Given the description of an element on the screen output the (x, y) to click on. 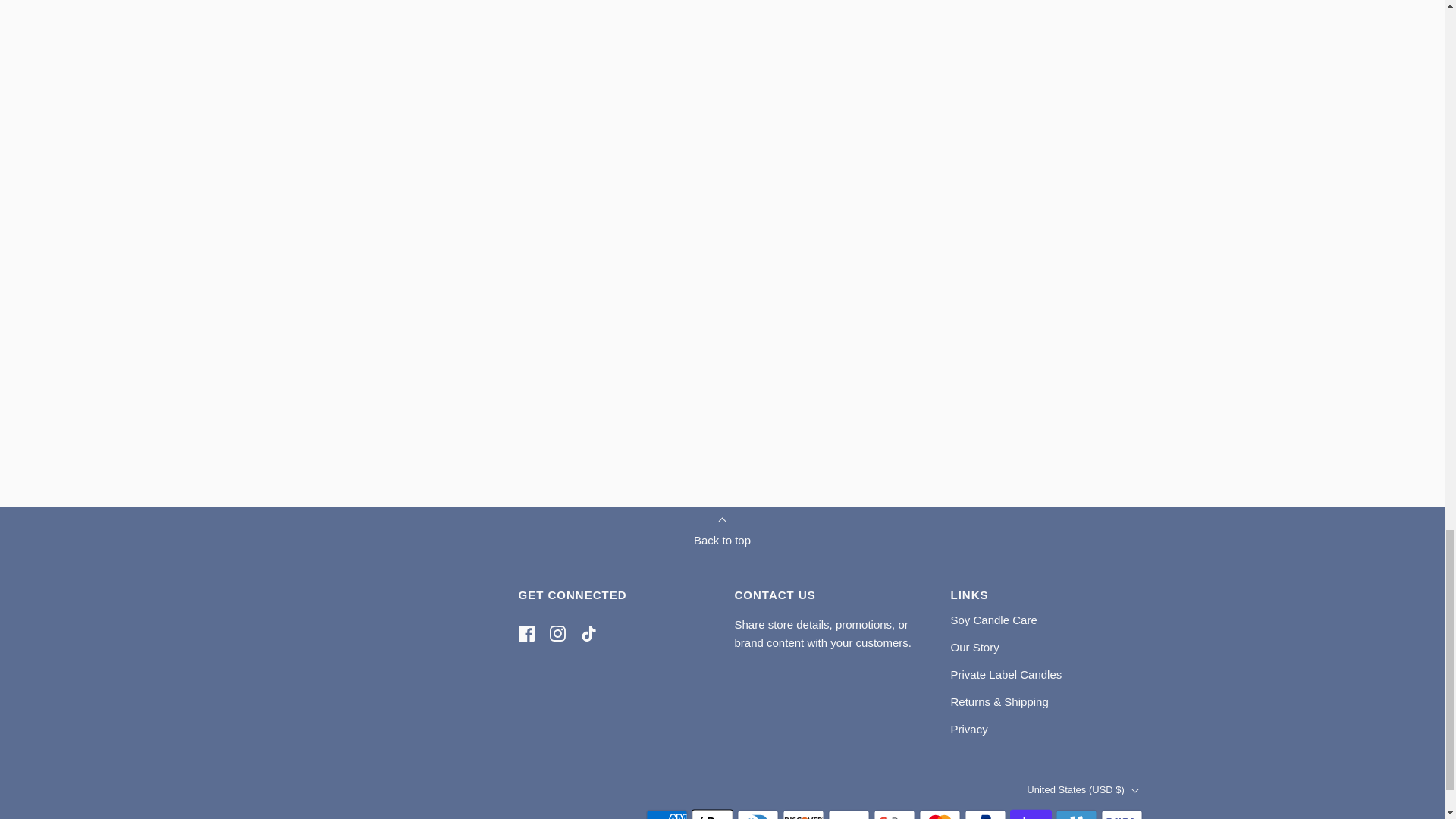
TikTok icon (588, 633)
Google Pay (894, 813)
Meta Pay (848, 813)
Instagram icon (556, 633)
American Express (666, 813)
Diners Club (757, 813)
Facebook icon (526, 633)
Discover (803, 813)
Apple Pay (712, 813)
